Given the description of an element on the screen output the (x, y) to click on. 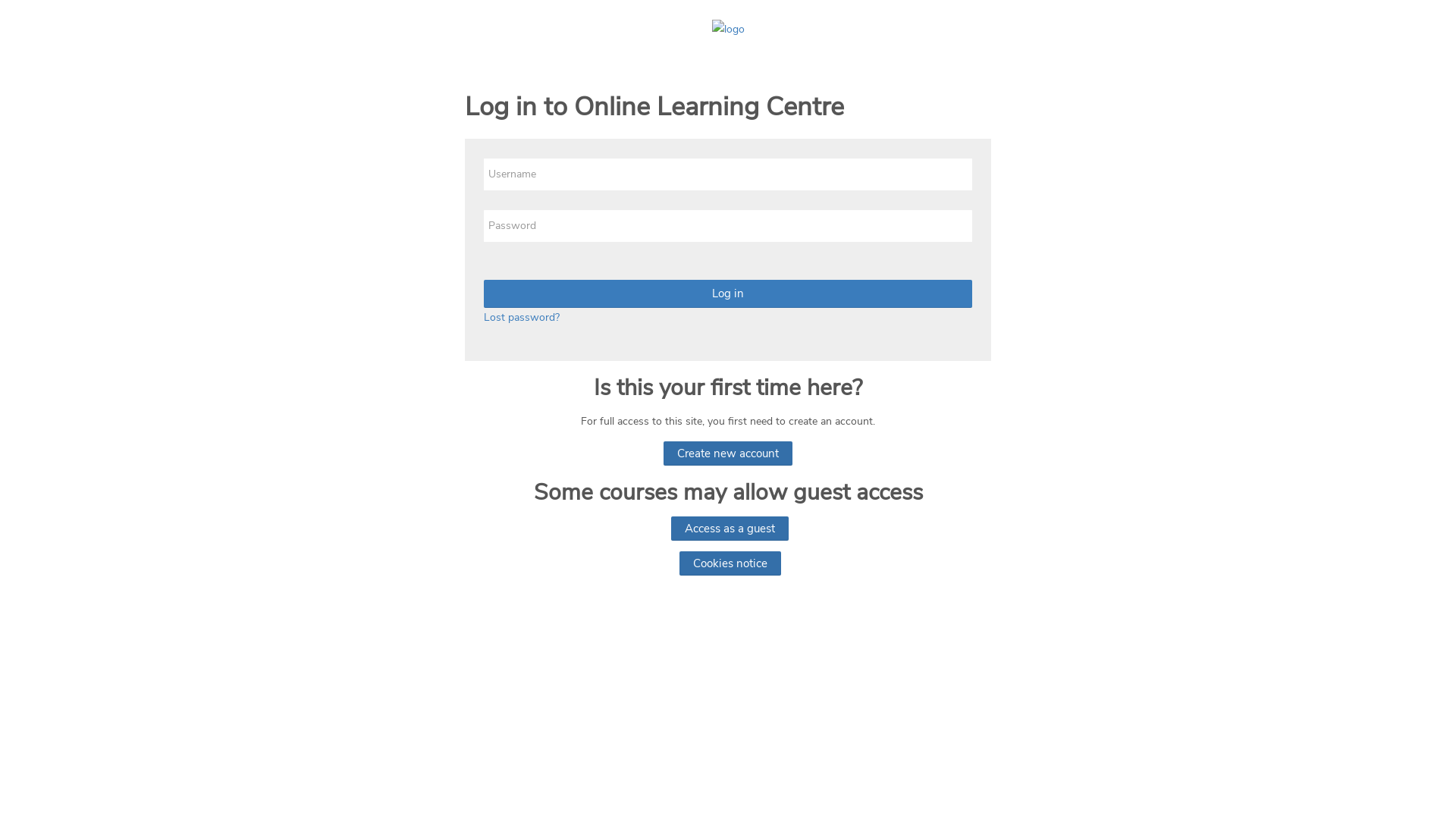
Log in Element type: text (727, 293)
Create new account Element type: text (727, 453)
Cookies notice Element type: text (730, 563)
Home Element type: hover (727, 28)
Lost password? Element type: text (521, 317)
Skip to create new account Element type: text (464, 138)
Access as a guest Element type: text (729, 528)
